Given the description of an element on the screen output the (x, y) to click on. 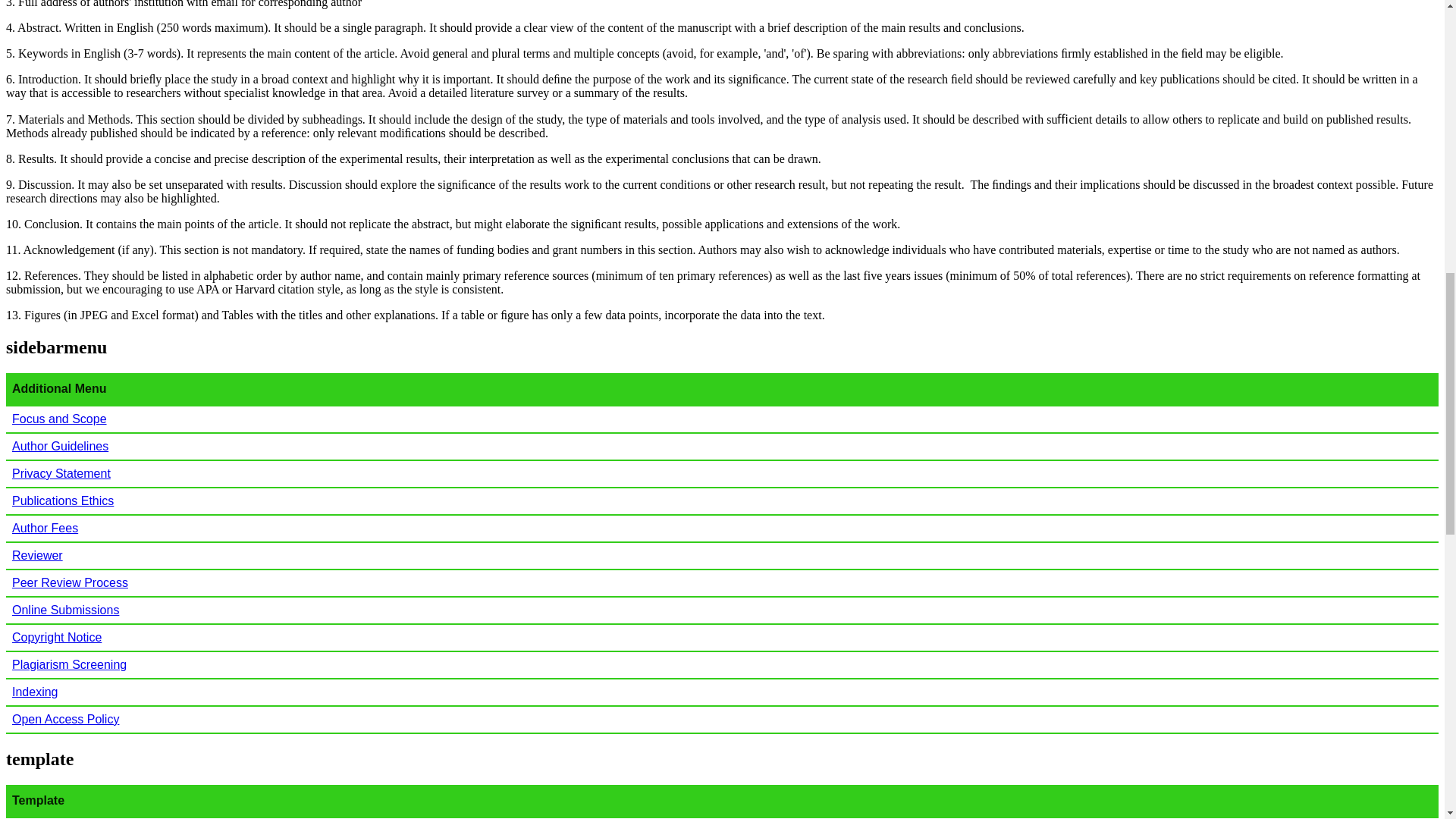
Publications Ethics (62, 500)
Open Access Policy (65, 718)
Reviewer (36, 554)
Focus and Scope (58, 418)
Copyright Notice (56, 636)
Privacy Statement (60, 472)
Peer Review Process (69, 582)
Online Submissions (65, 609)
Author Fees (44, 527)
Indexing (34, 691)
